Given the description of an element on the screen output the (x, y) to click on. 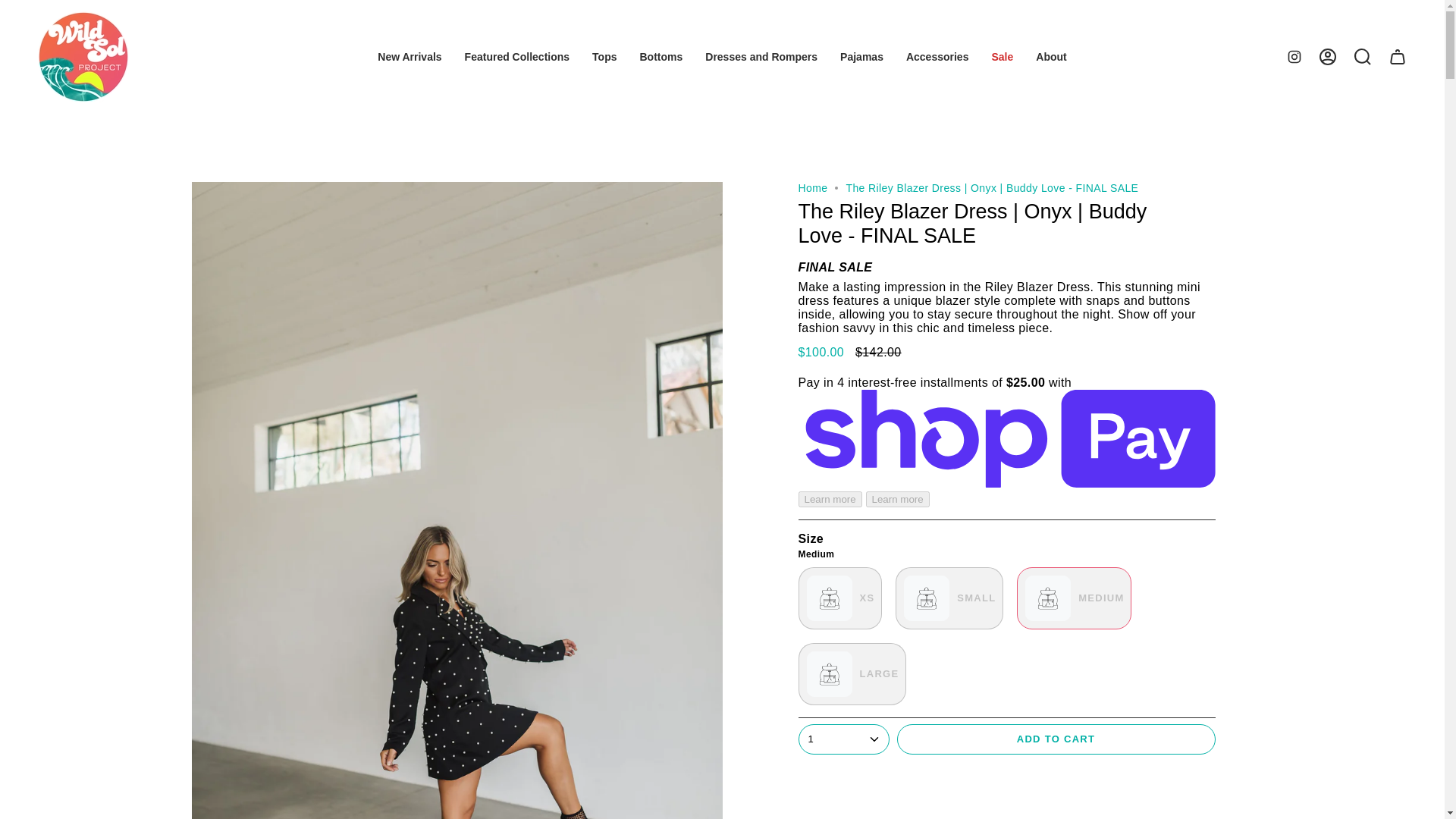
New Arrivals (409, 56)
Search (1362, 56)
My Account (1327, 56)
Featured Collections (516, 56)
Accessories (937, 56)
Cart (1397, 56)
Dresses and Rompers (761, 56)
Wild Sol Project on Instagram (1294, 55)
